Given the description of an element on the screen output the (x, y) to click on. 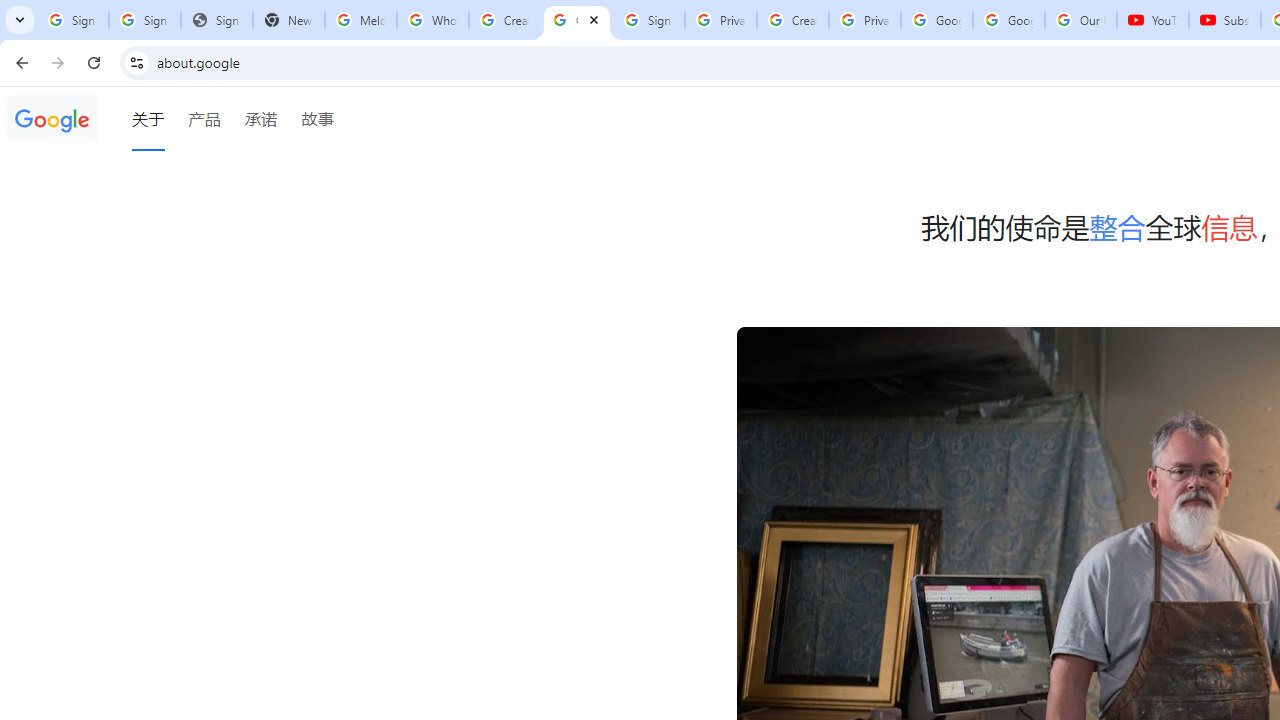
Sign in - Google Accounts (144, 20)
New Tab (289, 20)
Who is my administrator? - Google Account Help (432, 20)
Create your Google Account (792, 20)
